Given the description of an element on the screen output the (x, y) to click on. 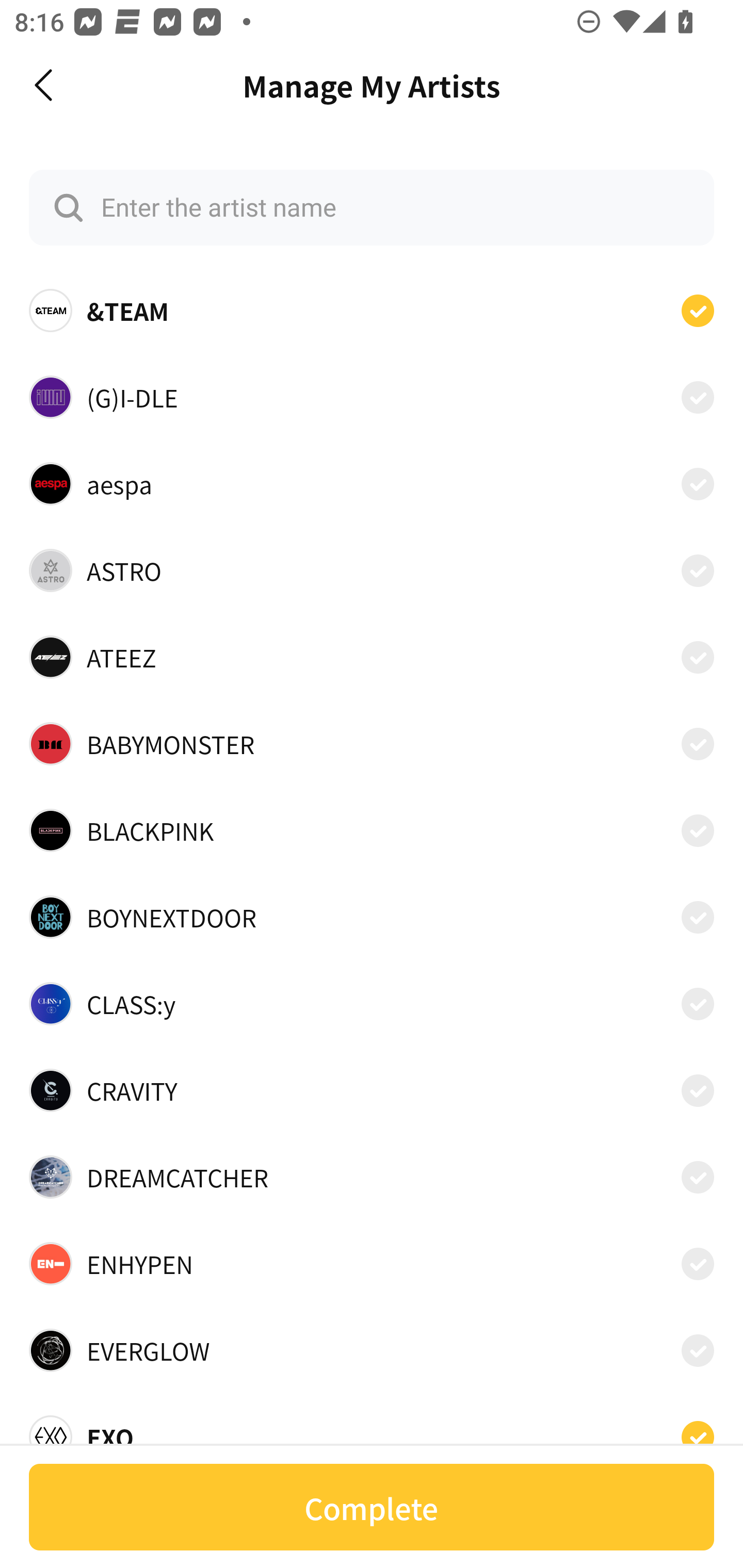
Enter the artist name (371, 207)
&TEAM (371, 310)
(G)I-DLE (371, 396)
aespa (371, 483)
ASTRO (371, 570)
ATEEZ (371, 656)
BABYMONSTER (371, 743)
BLACKPINK (371, 830)
BOYNEXTDOOR (371, 917)
CLASS:y (371, 1003)
CRAVITY (371, 1090)
DREAMCATCHER (371, 1176)
ENHYPEN (371, 1263)
EVERGLOW (371, 1350)
EXO (371, 1430)
Complete (371, 1507)
